Given the description of an element on the screen output the (x, y) to click on. 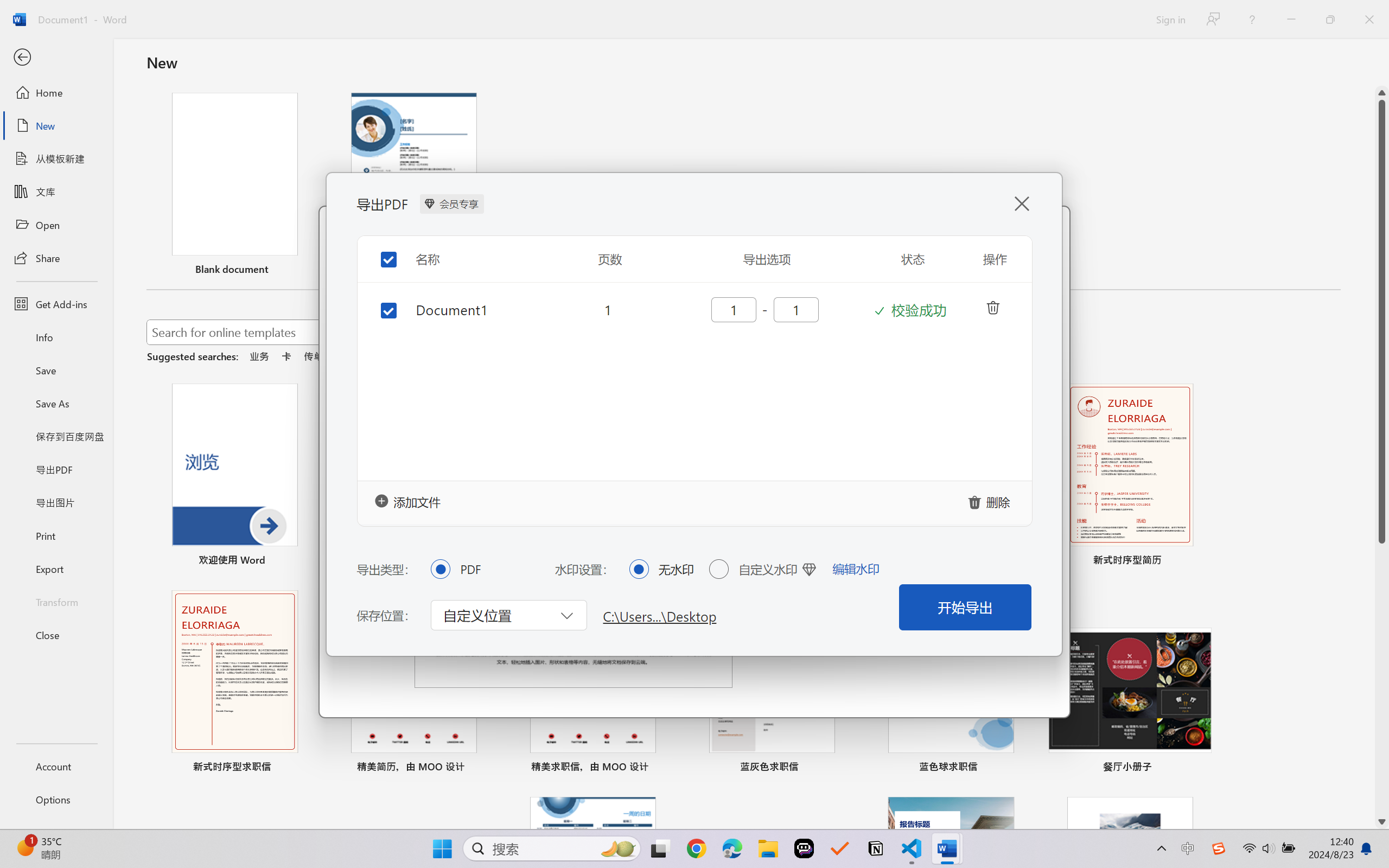
Page down (1382, 679)
1 (607, 308)
New (56, 125)
